Given the description of an element on the screen output the (x, y) to click on. 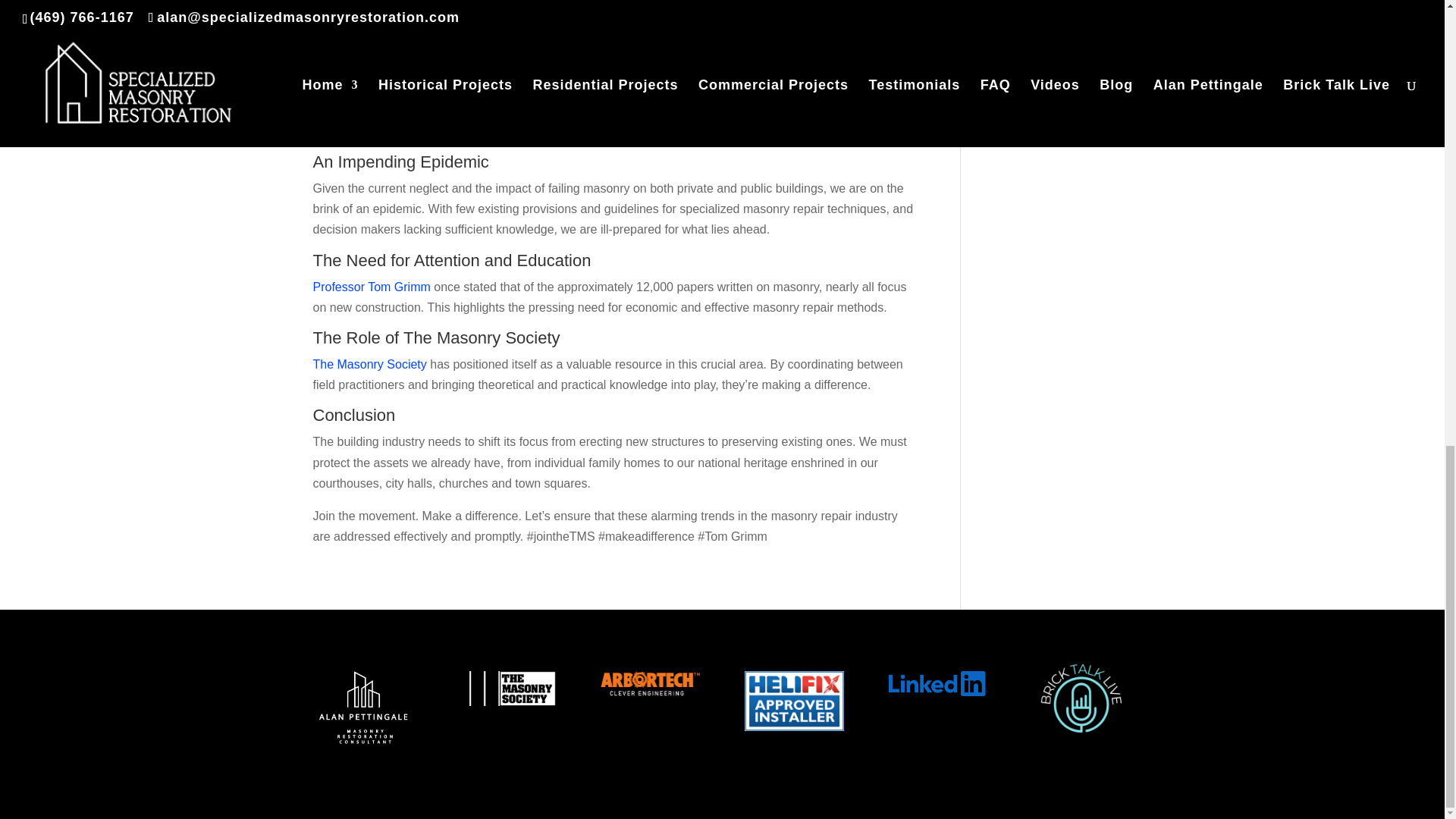
The Masonry Society (369, 364)
Professor Tom Grimm (371, 286)
AP logo inverse (361, 705)
